Given the description of an element on the screen output the (x, y) to click on. 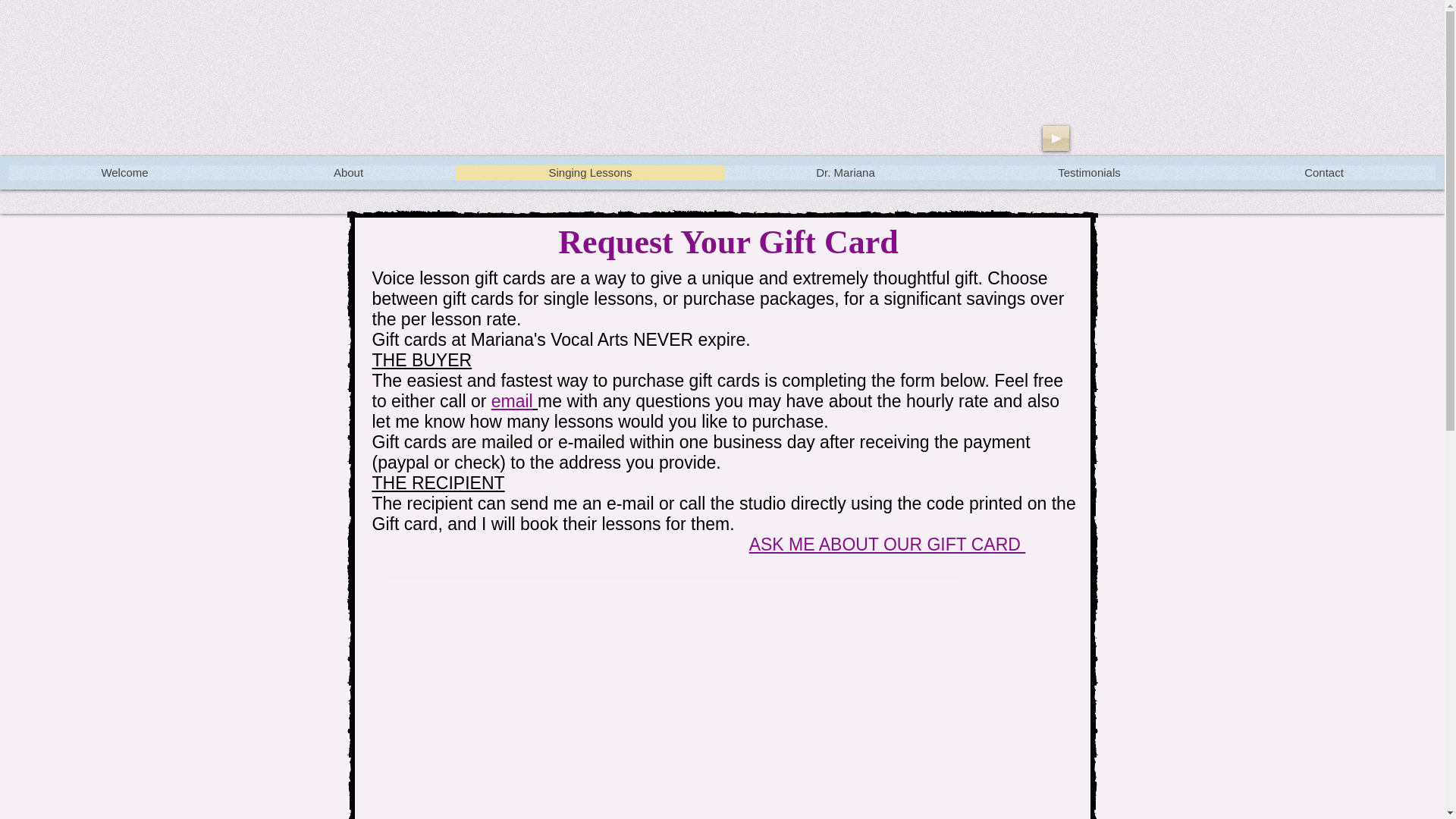
Singing Lessons (589, 172)
About (347, 172)
ASK ME ABOUT OUR GIFT CARD  (887, 544)
Contact (1323, 172)
Testimonials (1088, 172)
Dr. Mariana (844, 172)
email (512, 401)
Welcome (124, 172)
